Given the description of an element on the screen output the (x, y) to click on. 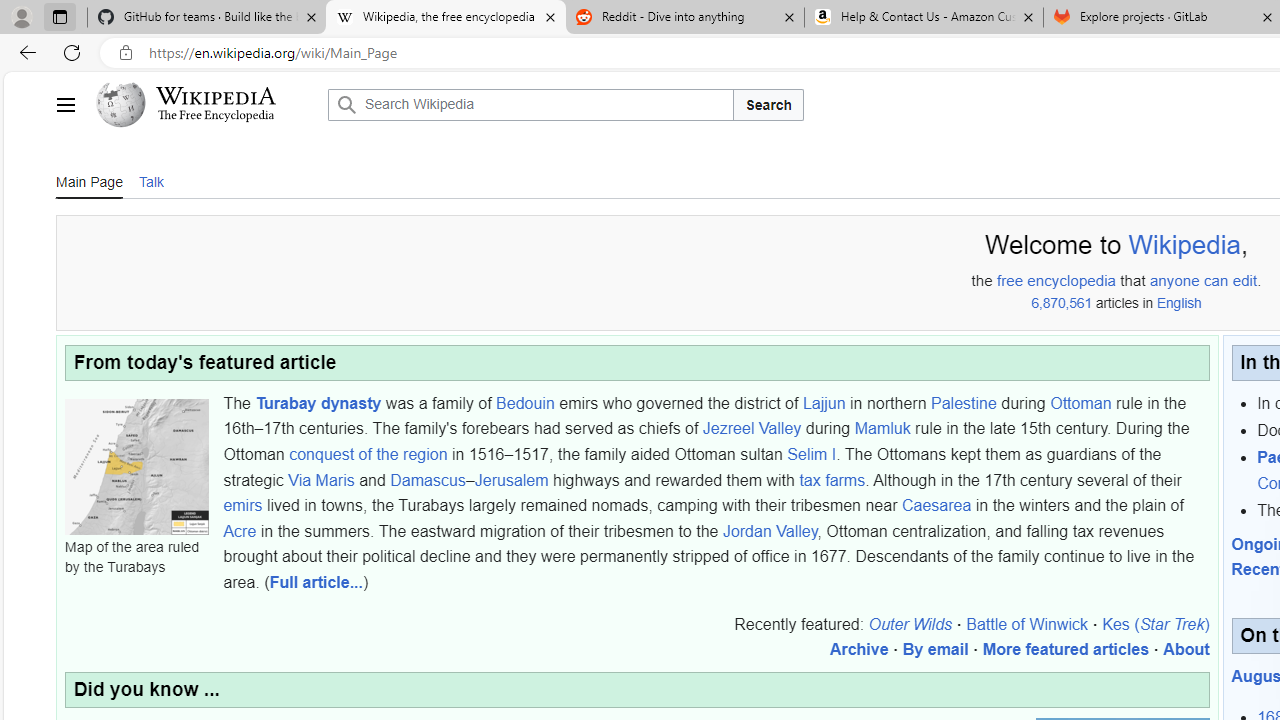
Palestine (963, 402)
Via Maris (321, 479)
Wikipedia The Free Encyclopedia (206, 104)
About (1186, 649)
Wikipedia (216, 96)
Outer Wilds (910, 623)
anyone can edit (1203, 281)
Wikipedia (1184, 245)
Reddit - Dive into anything (684, 17)
Main Page (89, 180)
